Given the description of an element on the screen output the (x, y) to click on. 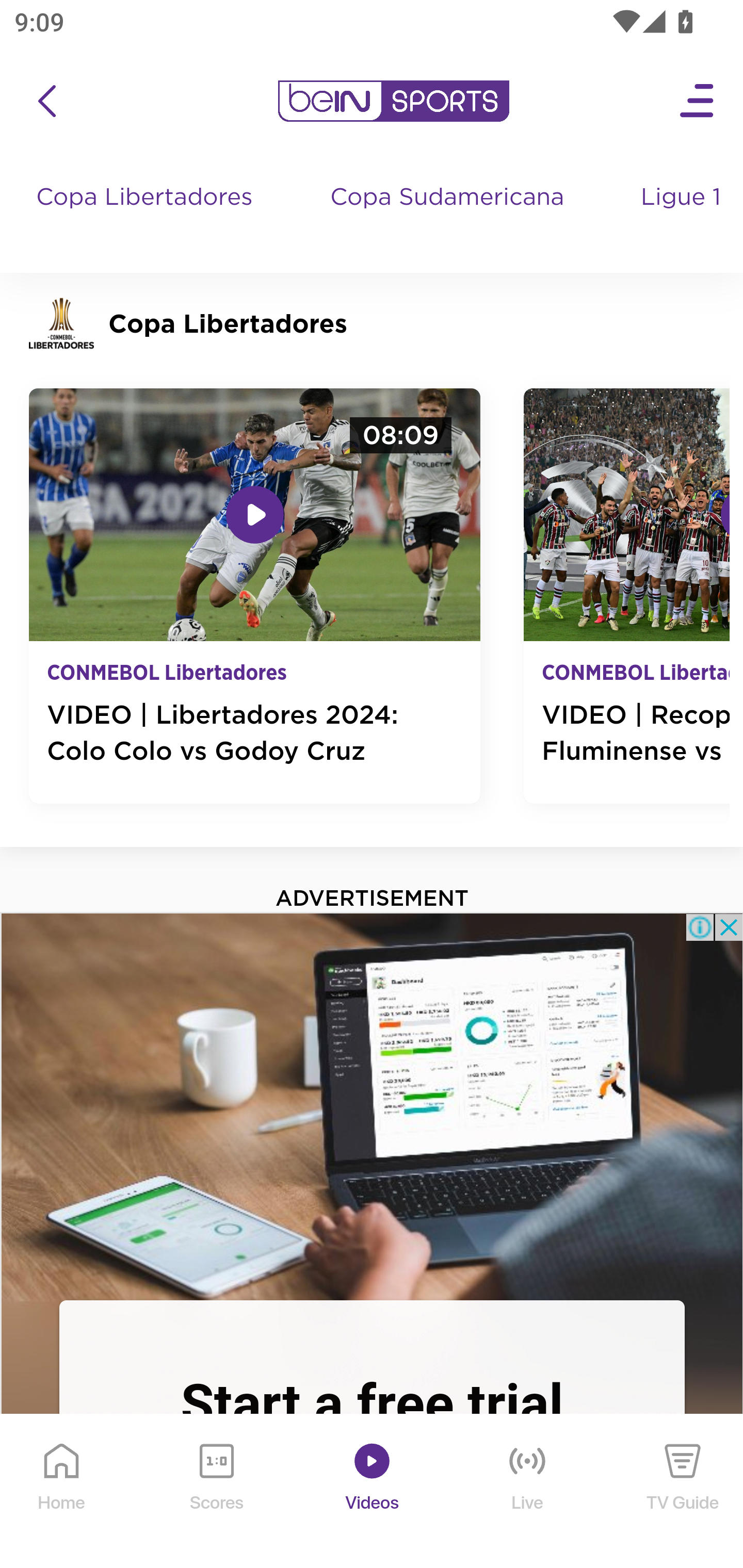
en-us?platform=mobile_android bein logo (392, 101)
icon back (46, 101)
Open Menu Icon (697, 101)
Copa Libertadores (146, 216)
Copa Sudamericana (448, 216)
Ligue 1 (682, 216)
%3Fcid%3Dppc_ROW_%7Bdscampaign%7D%26gclsrc%3Daw (371, 1105)
Home Home Icon Home (61, 1491)
Scores Scores Icon Scores (216, 1491)
Videos Videos Icon Videos (372, 1491)
TV Guide TV Guide Icon TV Guide (682, 1491)
